Given the description of an element on the screen output the (x, y) to click on. 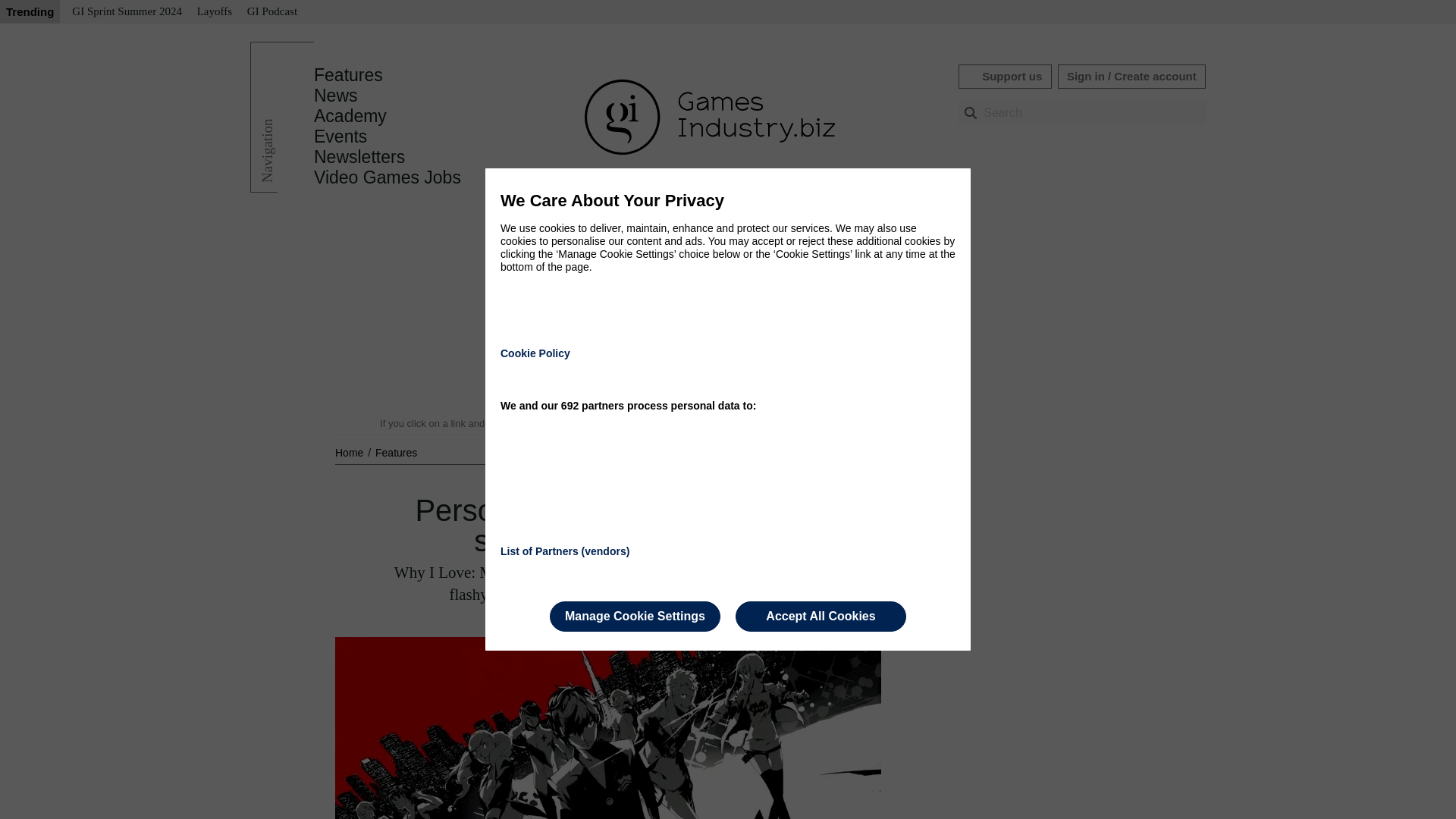
Academy (350, 116)
GI Podcast (271, 11)
GI Sprint Summer 2024 (126, 11)
Events (340, 136)
News (336, 95)
Events (340, 136)
Video Games Jobs (387, 177)
Layoffs (214, 11)
Support us (1004, 75)
Newsletters (359, 157)
GI Podcast (271, 11)
Features (348, 75)
Layoffs (214, 11)
Features (348, 75)
Features (395, 452)
